Given the description of an element on the screen output the (x, y) to click on. 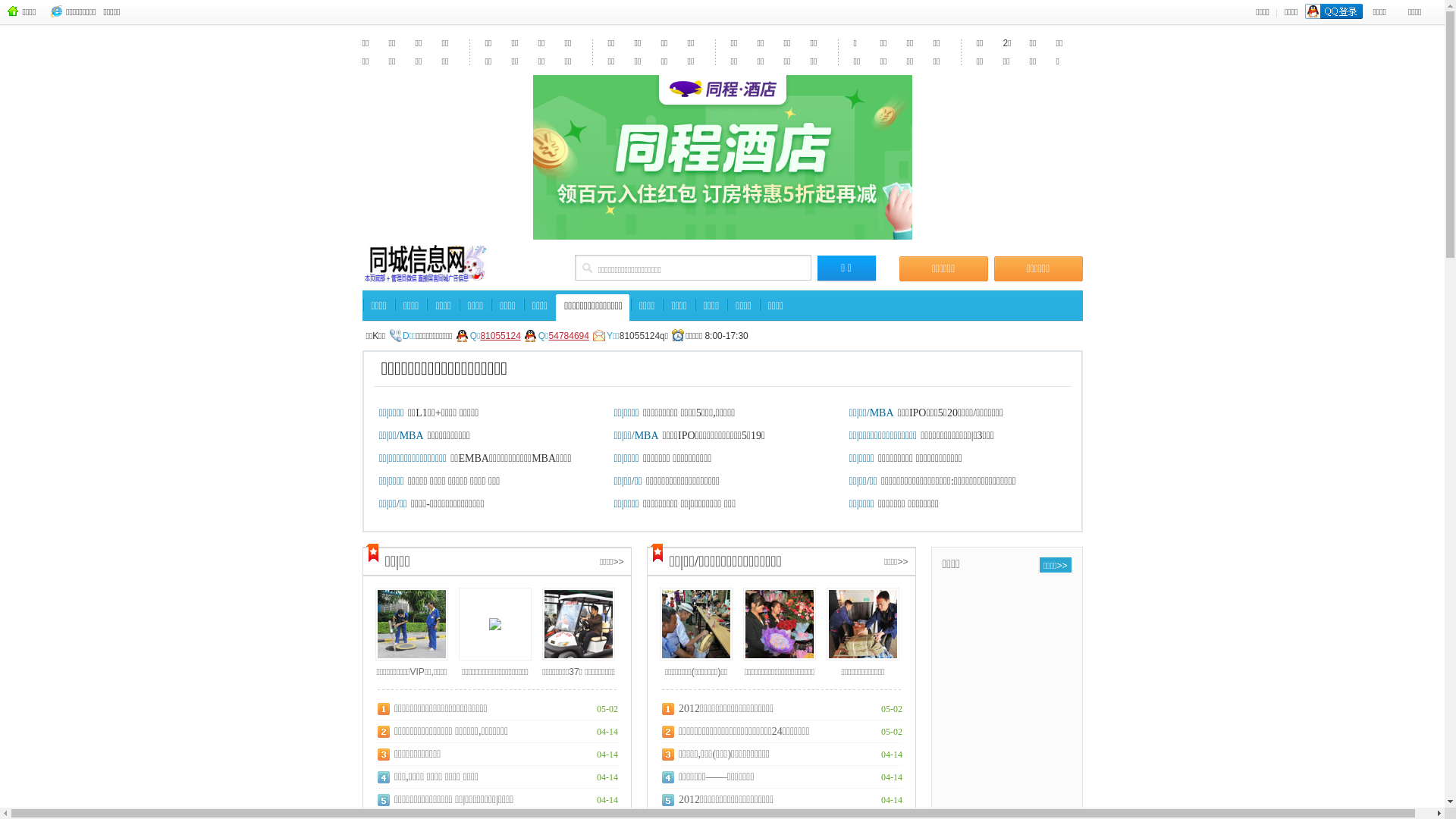
54784694 Element type: text (569, 340)
81055124 Element type: text (500, 340)
